Given the description of an element on the screen output the (x, y) to click on. 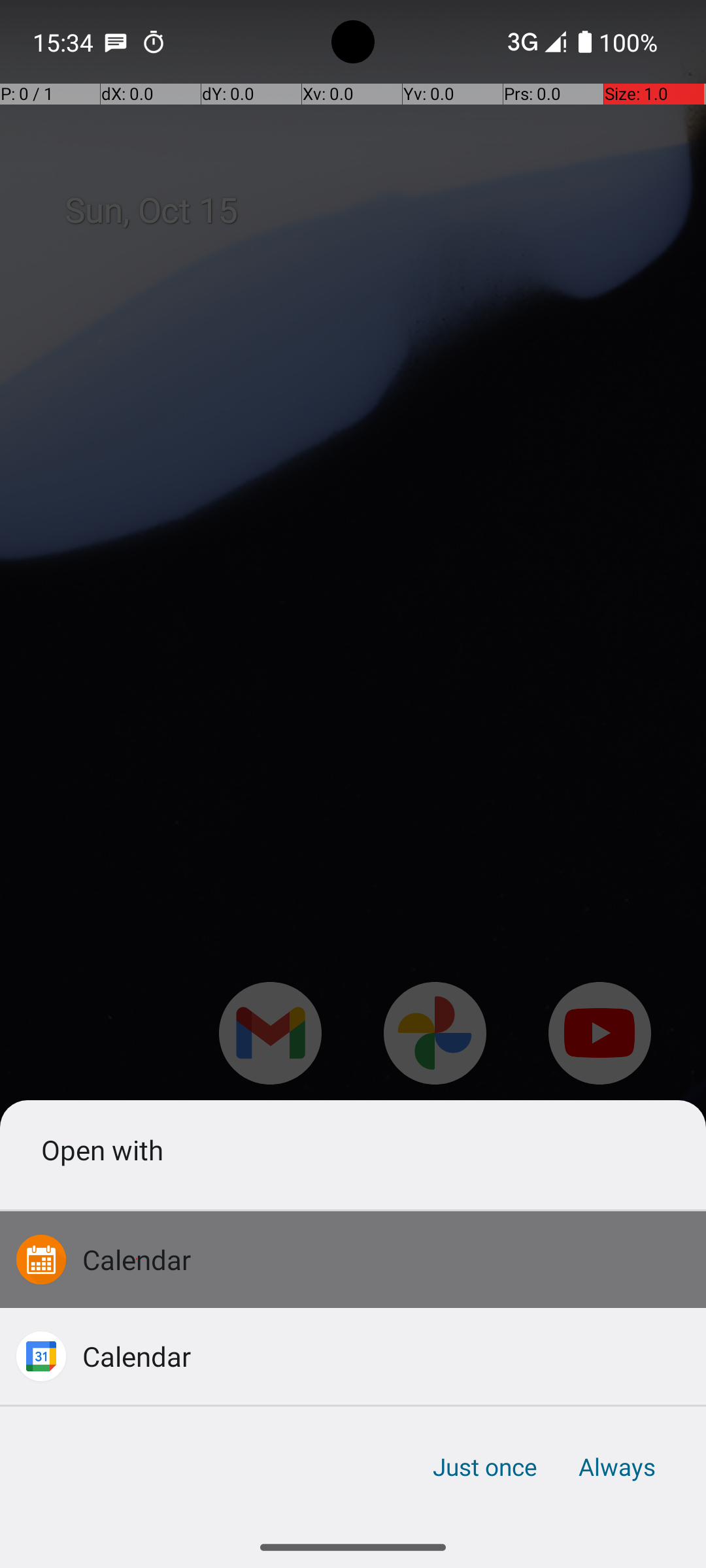
Open with Element type: android.widget.TextView (352, 1149)
Just once Element type: android.widget.Button (484, 1466)
Always Element type: android.widget.Button (616, 1466)
